Given the description of an element on the screen output the (x, y) to click on. 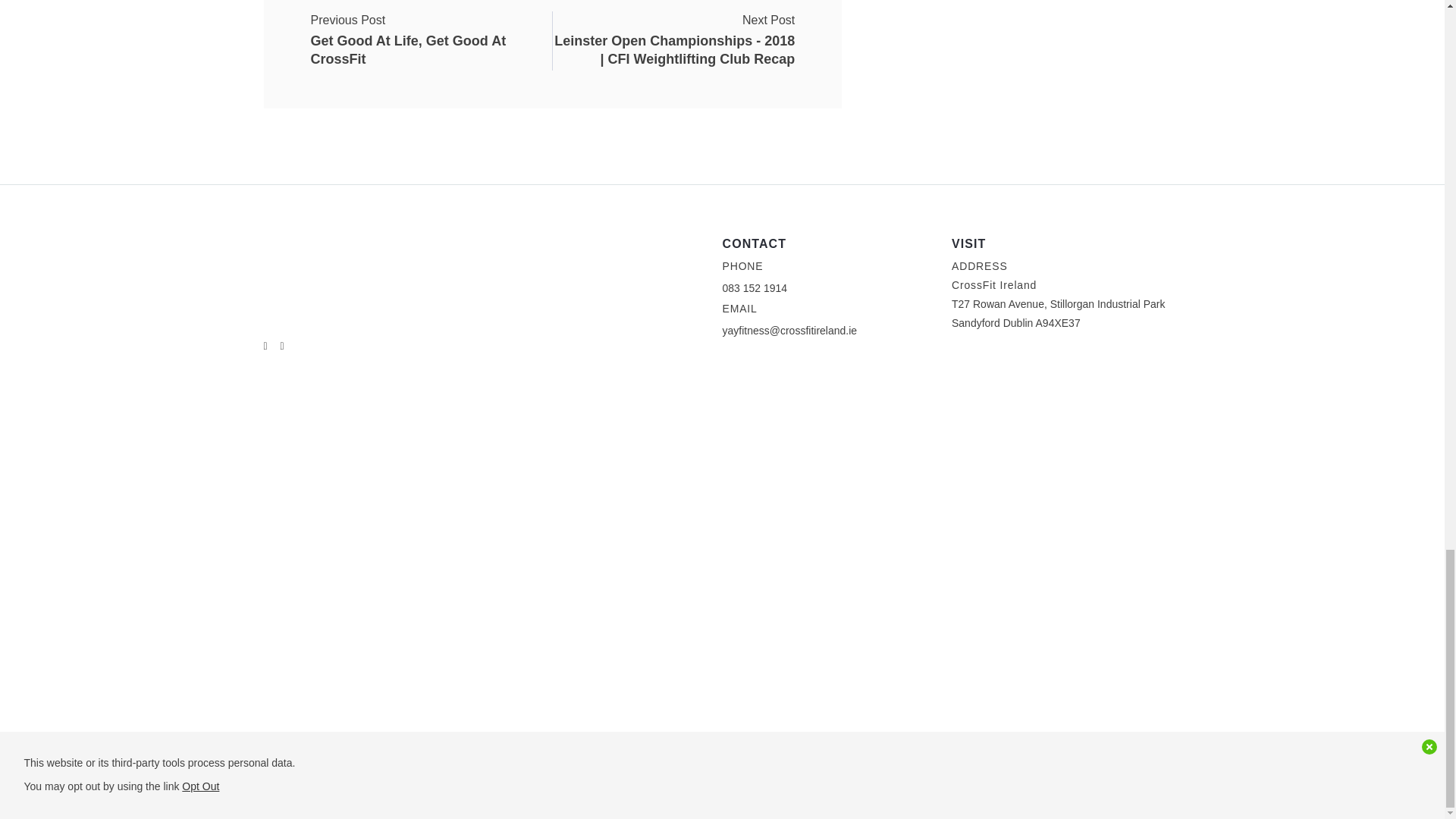
Get Good At Life, Get Good At CrossFit (430, 31)
Follow us on facebook (430, 31)
Follow us on instagram (282, 345)
